Given the description of an element on the screen output the (x, y) to click on. 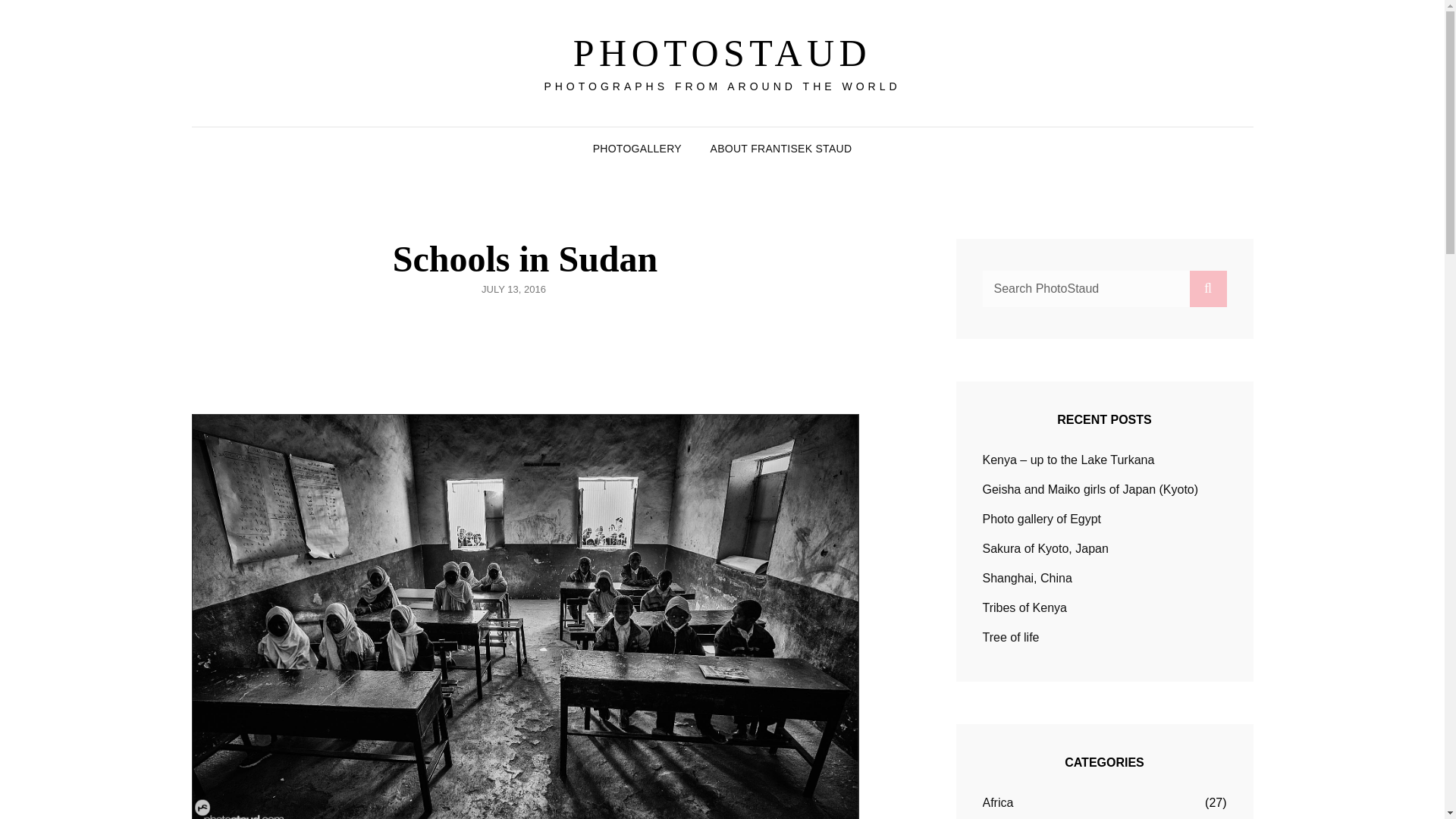
Sakura of Kyoto, Japan (1045, 548)
Search (1207, 288)
ABOUT FRANTISEK STAUD (781, 148)
Shanghai, China (1026, 577)
Tribes of Kenya (1024, 607)
Tree of life (1010, 636)
PHOTOSTAUD (721, 52)
Photo gallery of Egypt (1042, 518)
Africa (997, 802)
PHOTOGALLERY (637, 148)
